Given the description of an element on the screen output the (x, y) to click on. 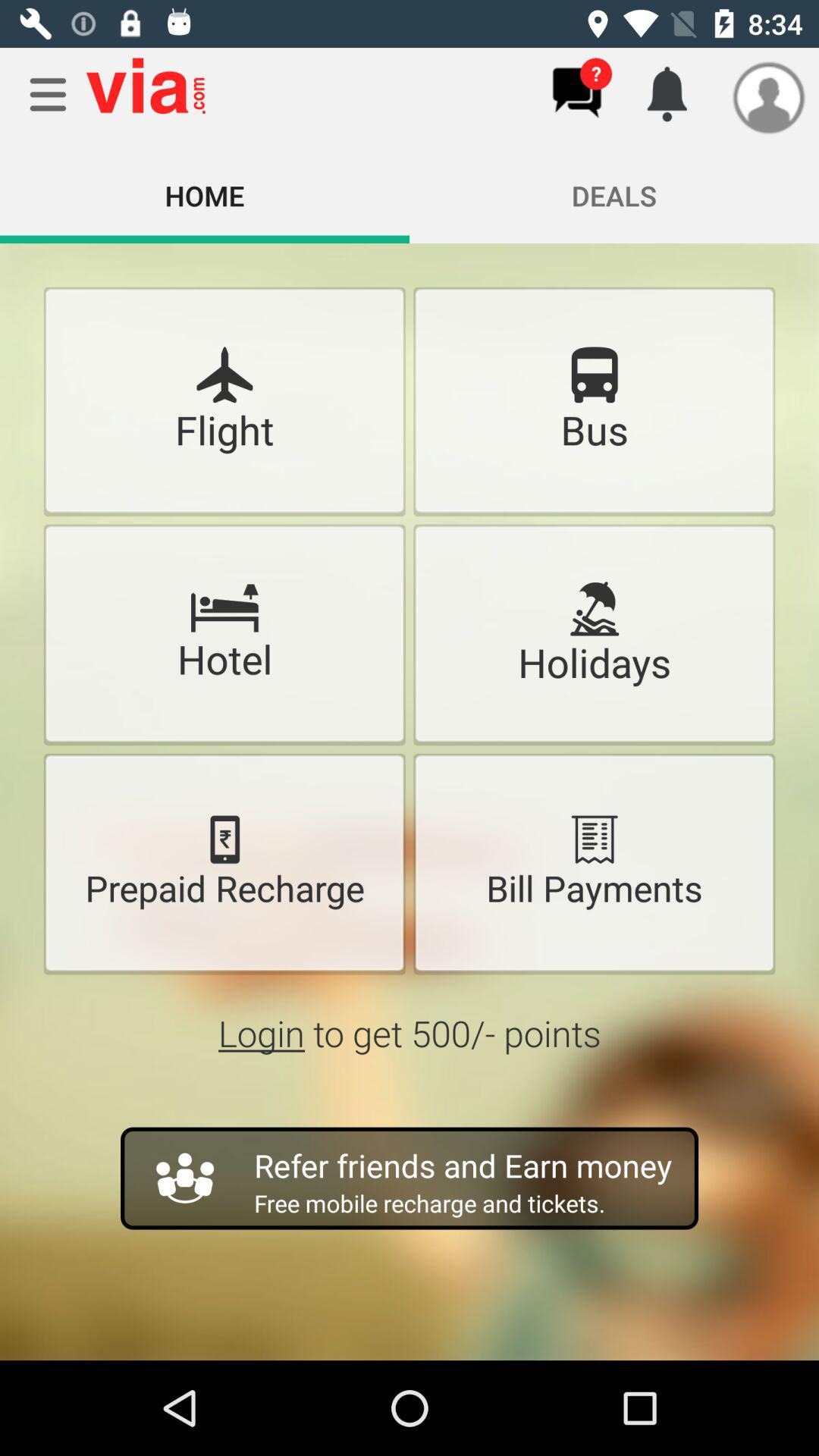
chat (576, 92)
